Given the description of an element on the screen output the (x, y) to click on. 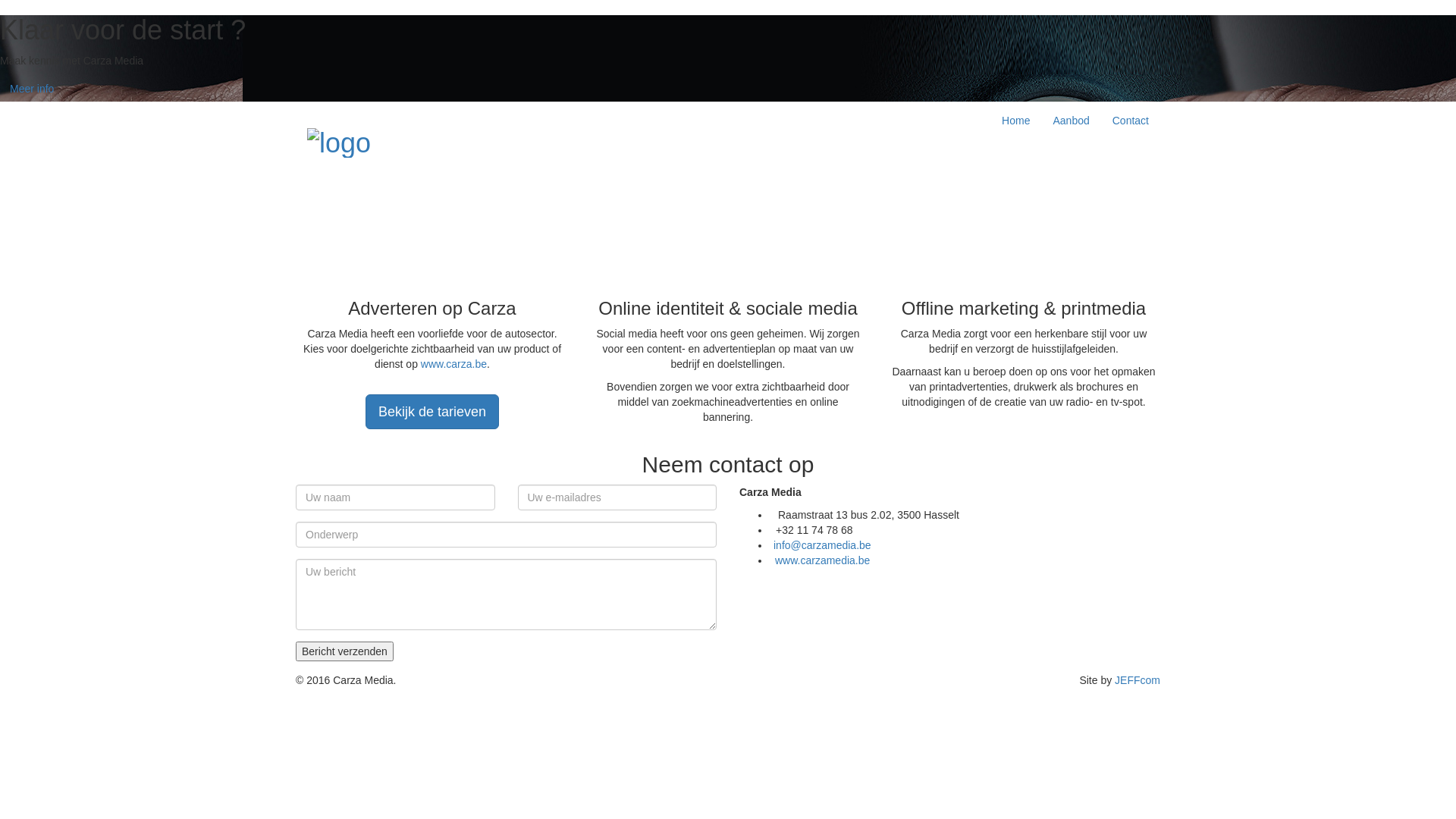
Bekijk de tarieven Element type: text (431, 411)
www.carzamedia.be Element type: text (822, 560)
info@carzamedia.be Element type: text (822, 545)
Aanbod Element type: text (1070, 120)
Contact Element type: text (1130, 120)
www.carza.be Element type: text (453, 363)
Home Element type: text (1015, 120)
Meer info Element type: text (31, 88)
JEFFcom Element type: text (1137, 680)
Bericht verzenden Element type: text (344, 651)
